Given the description of an element on the screen output the (x, y) to click on. 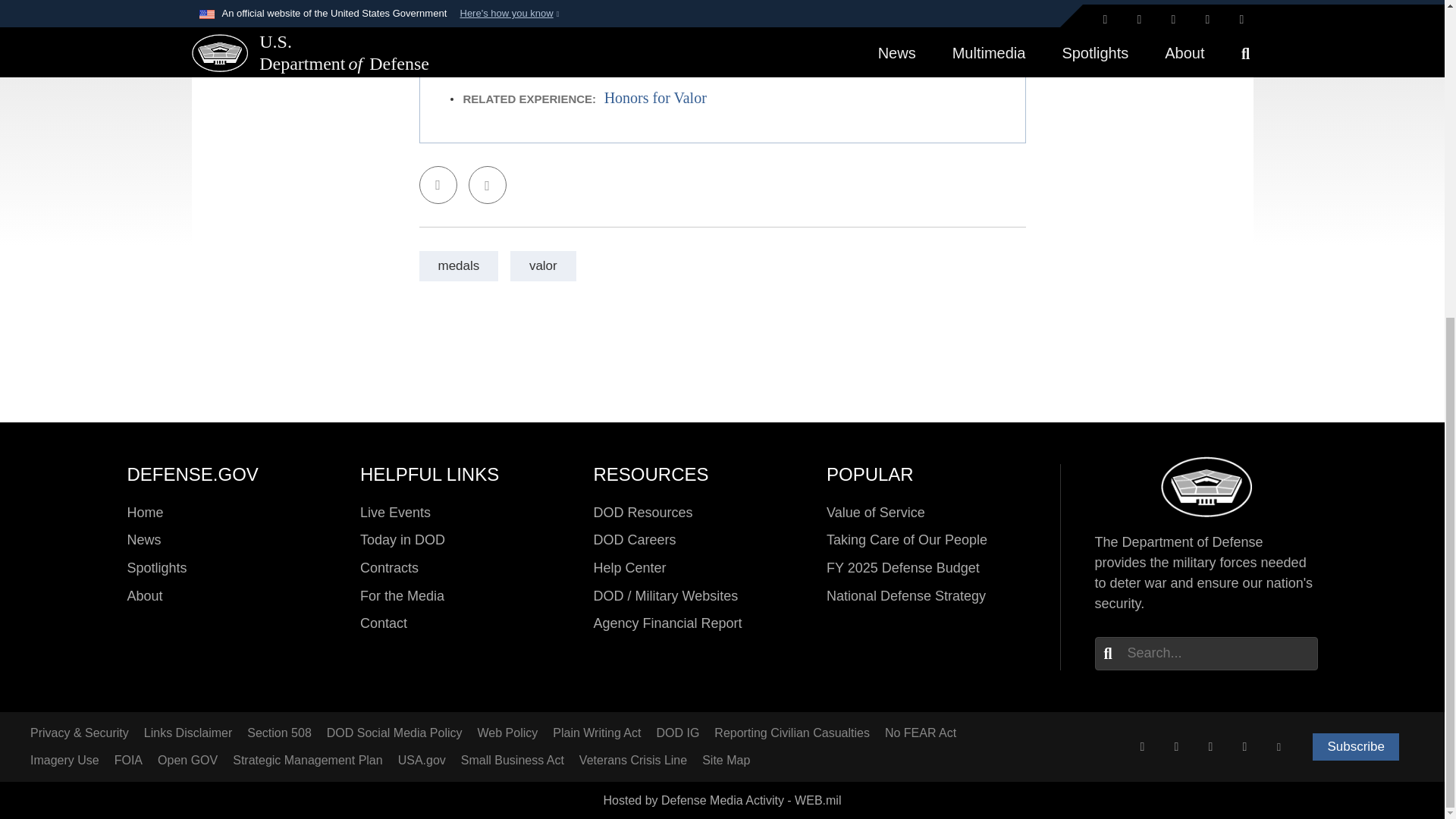
Instagram (1209, 746)
LinkedIn (1244, 746)
YouTube (1278, 746)
Facebook (1176, 746)
X (1142, 746)
